Given the description of an element on the screen output the (x, y) to click on. 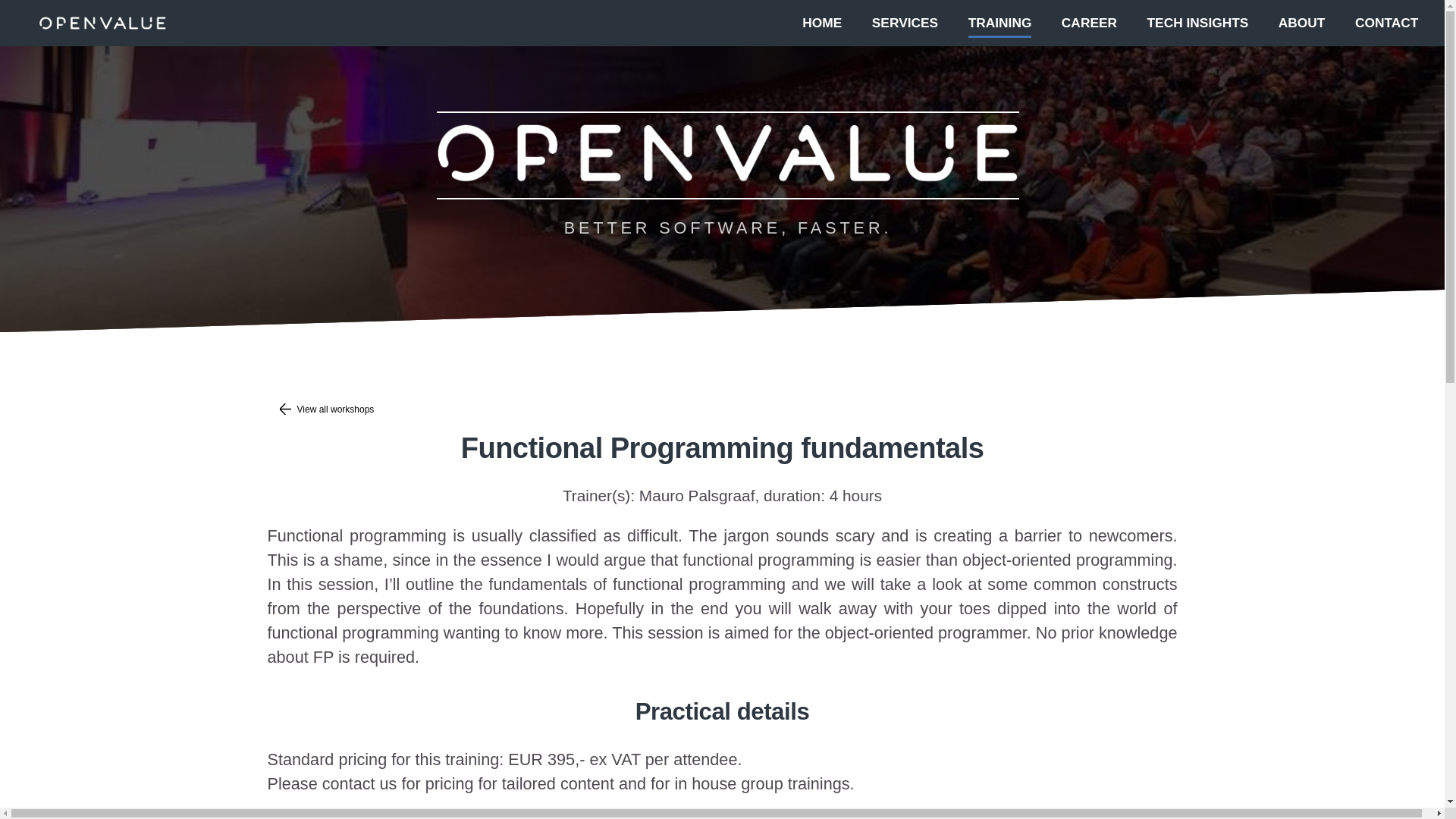
View all workshops (721, 409)
ABOUT (1301, 20)
SERVICES (904, 20)
CONTACT (1386, 20)
TRAINING (1000, 20)
CAREER (1088, 20)
HOME (821, 20)
TECH INSIGHTS (1198, 20)
